Given the description of an element on the screen output the (x, y) to click on. 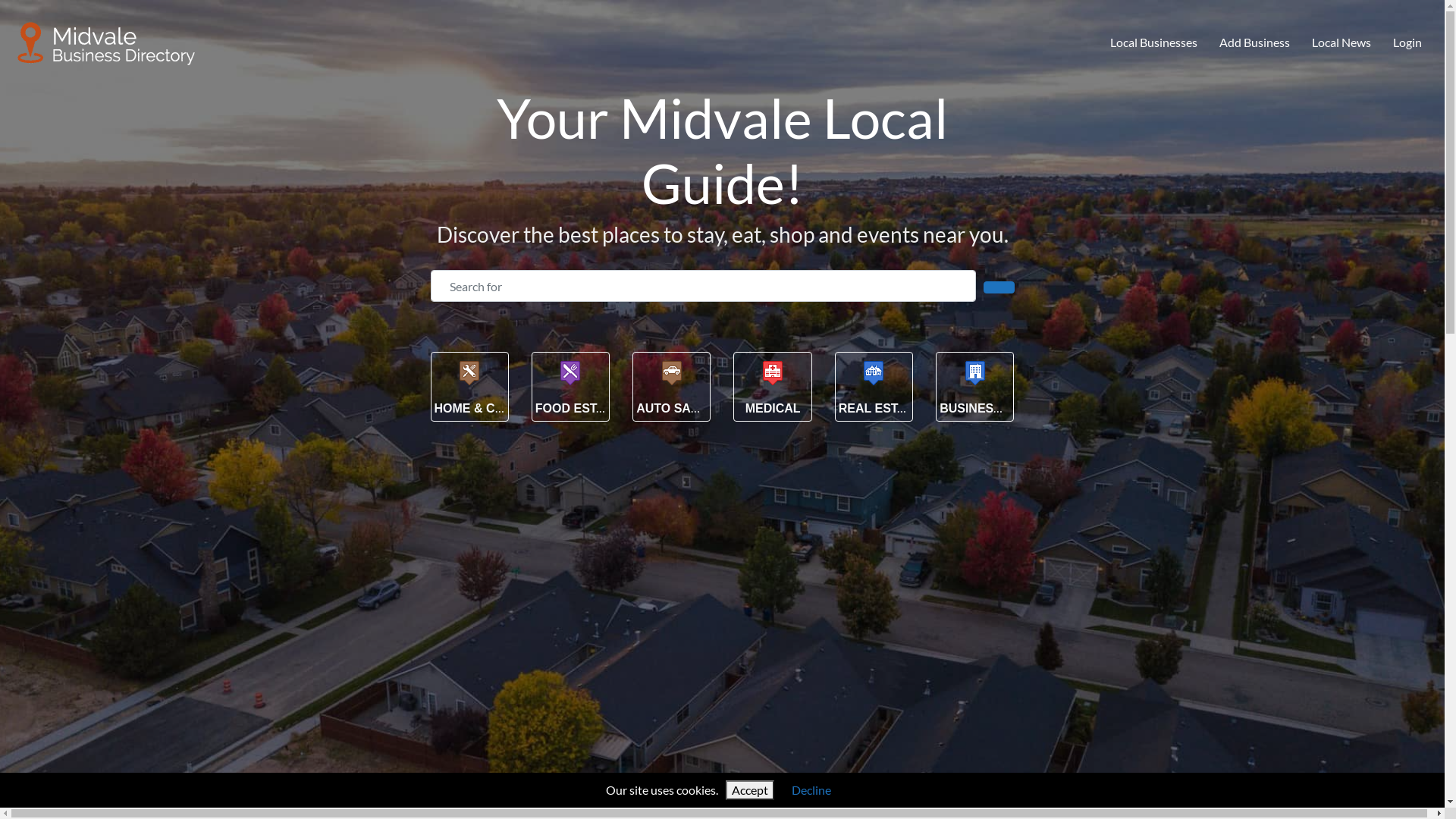
MEDICAL Element type: text (772, 407)
Local News Element type: text (1340, 42)
Search Element type: text (998, 287)
Accept Element type: text (749, 790)
BUSINESS SERVICE Element type: text (998, 407)
REAL ESTATE Element type: text (879, 407)
Add Business Element type: text (1254, 42)
AUTO SALES & SERVICE Element type: text (709, 407)
Midvale Business Directory Element type: hover (106, 40)
Local Businesses Element type: text (1153, 42)
HOME & CONSTRUCTION Element type: text (508, 407)
FOOD ESTABLISHMENT Element type: text (605, 407)
Login Element type: text (1406, 42)
Decline Element type: text (811, 789)
